Given the description of an element on the screen output the (x, y) to click on. 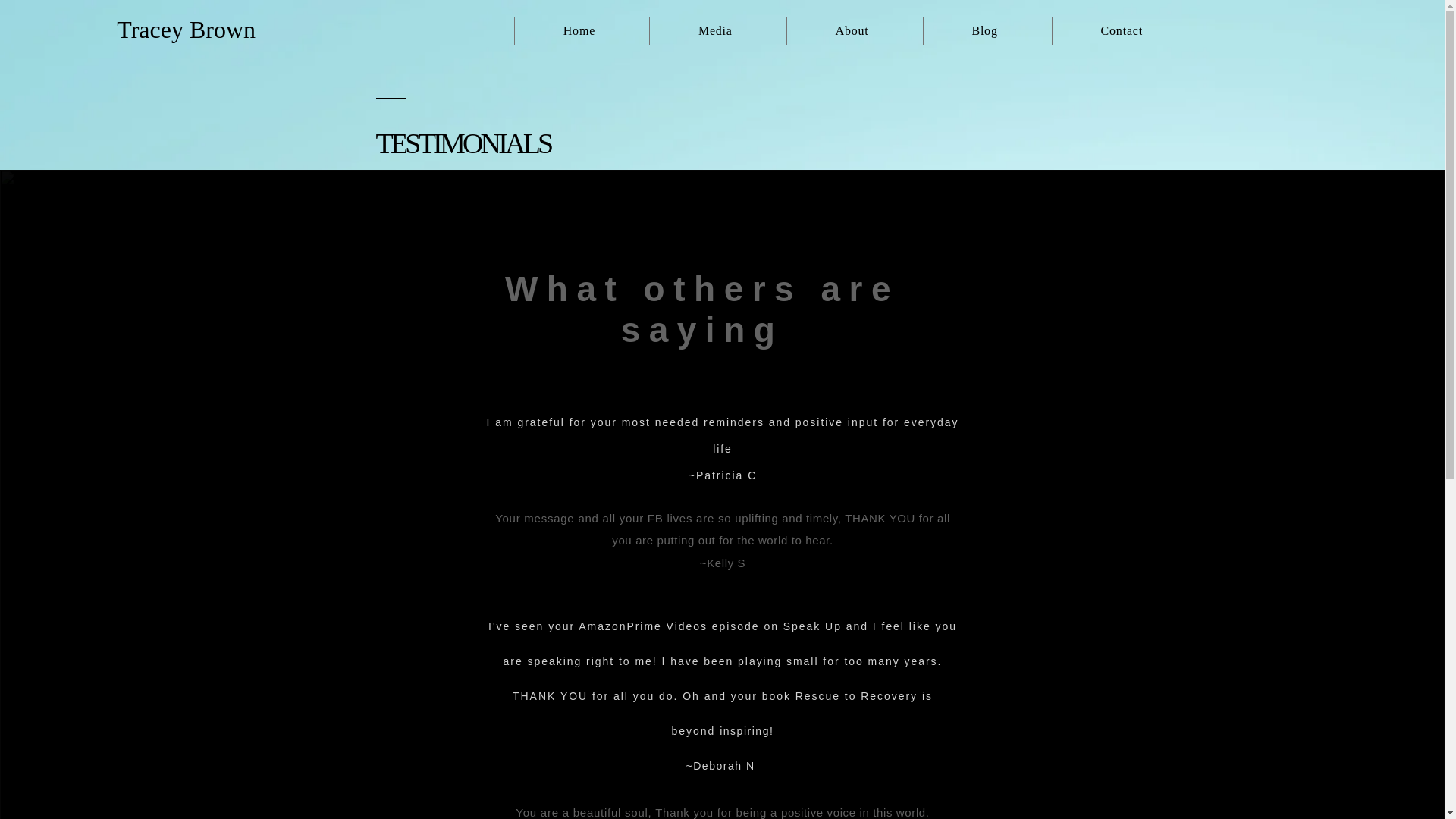
About (851, 30)
Tracey Brown (186, 29)
Blog (984, 30)
Home (578, 30)
